Given the description of an element on the screen output the (x, y) to click on. 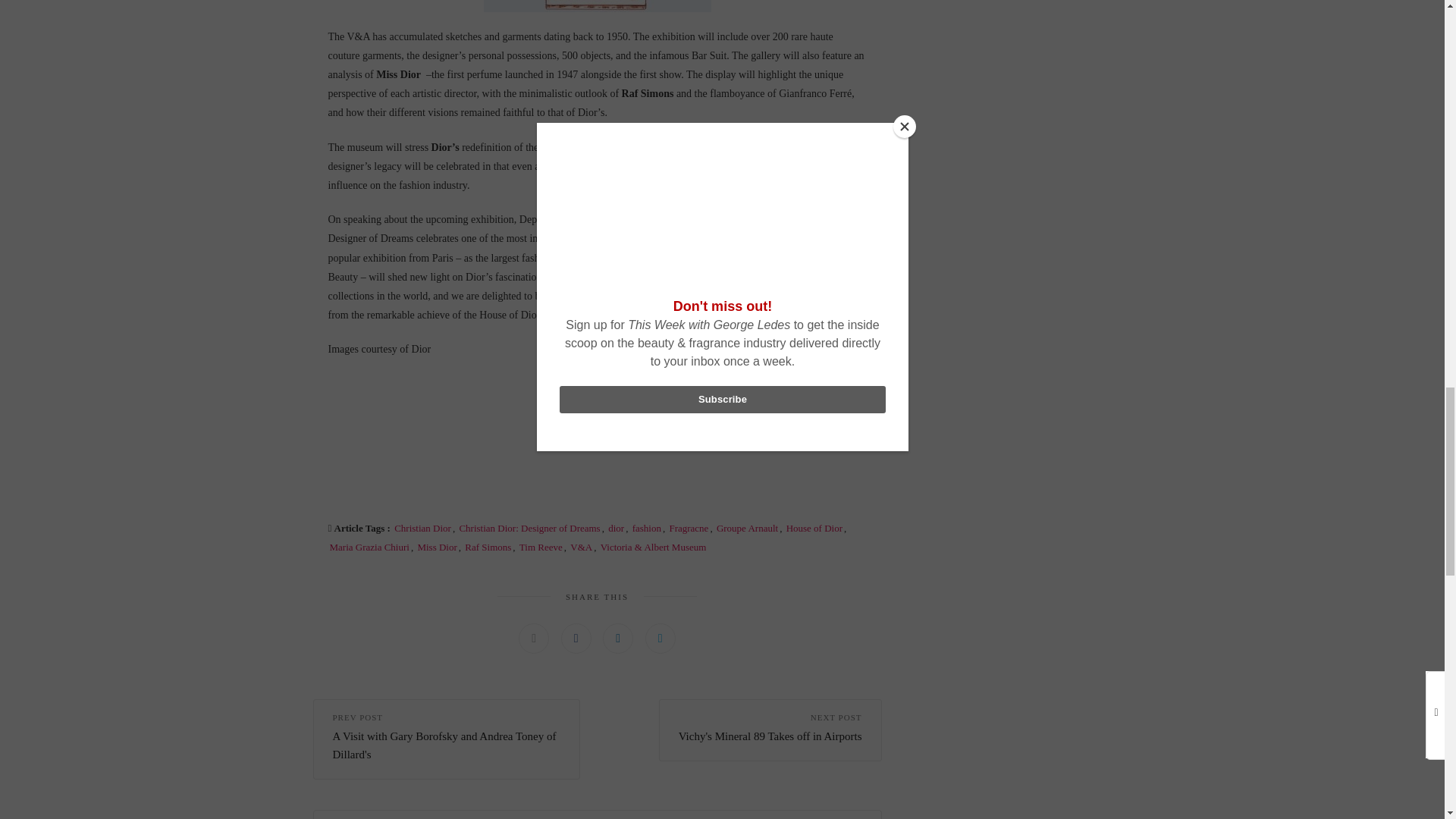
Fragracne (688, 527)
Groupe Arnault (746, 527)
Maria Grazia Chiuri (368, 546)
Christian Dior (422, 527)
Miss Dior (436, 546)
House of Dior (814, 527)
Raf Simons (487, 546)
Page 2 (596, 486)
dior (616, 527)
fashion (646, 527)
Tim Reeve (541, 546)
Christian Dior: Designer of Dreams (529, 527)
